Given the description of an element on the screen output the (x, y) to click on. 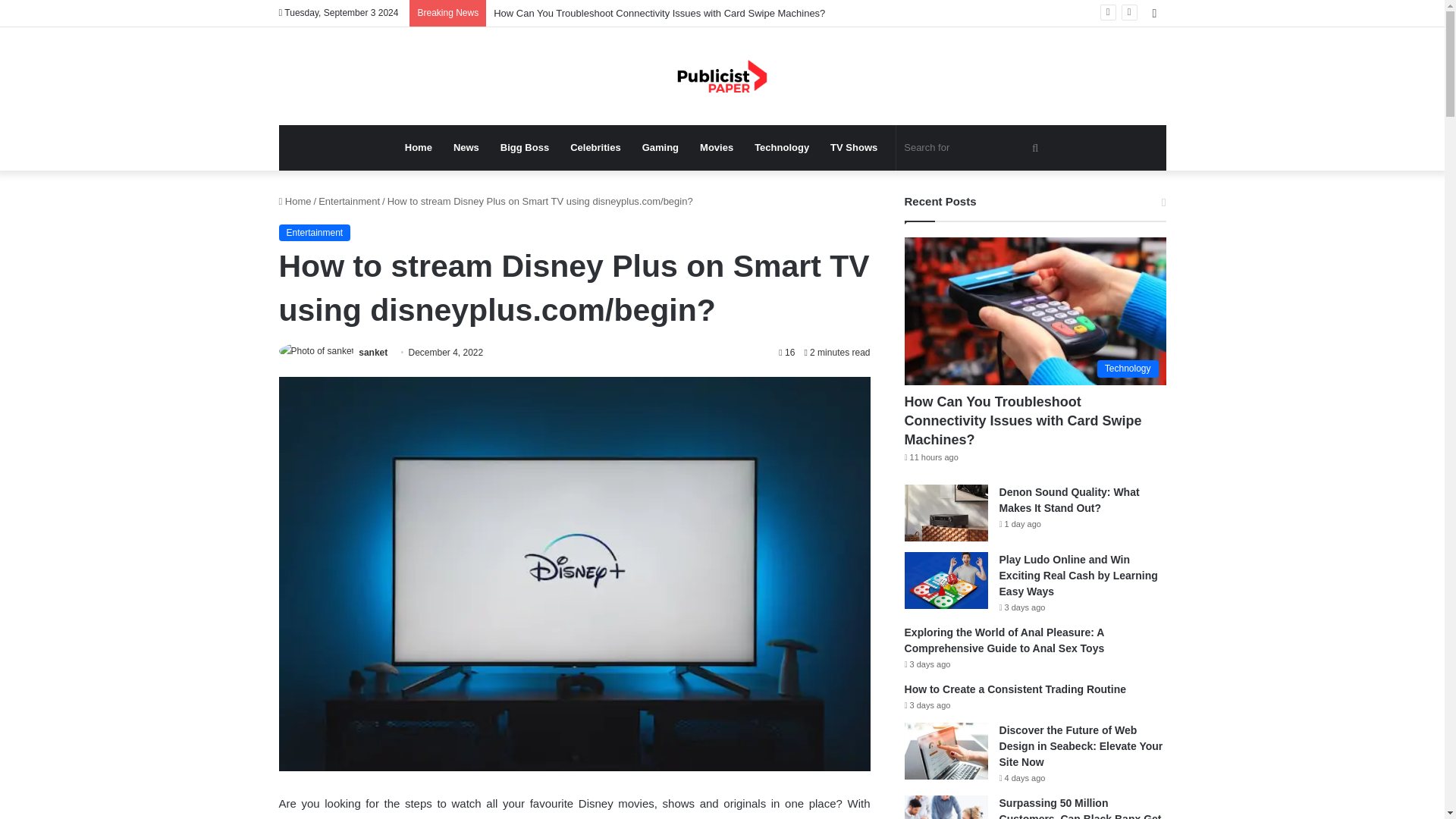
TV Shows (853, 147)
News (465, 147)
sanket (372, 352)
Publicist Paper (721, 76)
Movies (716, 147)
Entertainment (349, 201)
Entertainment (314, 232)
Technology (781, 147)
Home (295, 201)
Bigg Boss (524, 147)
